Given the description of an element on the screen output the (x, y) to click on. 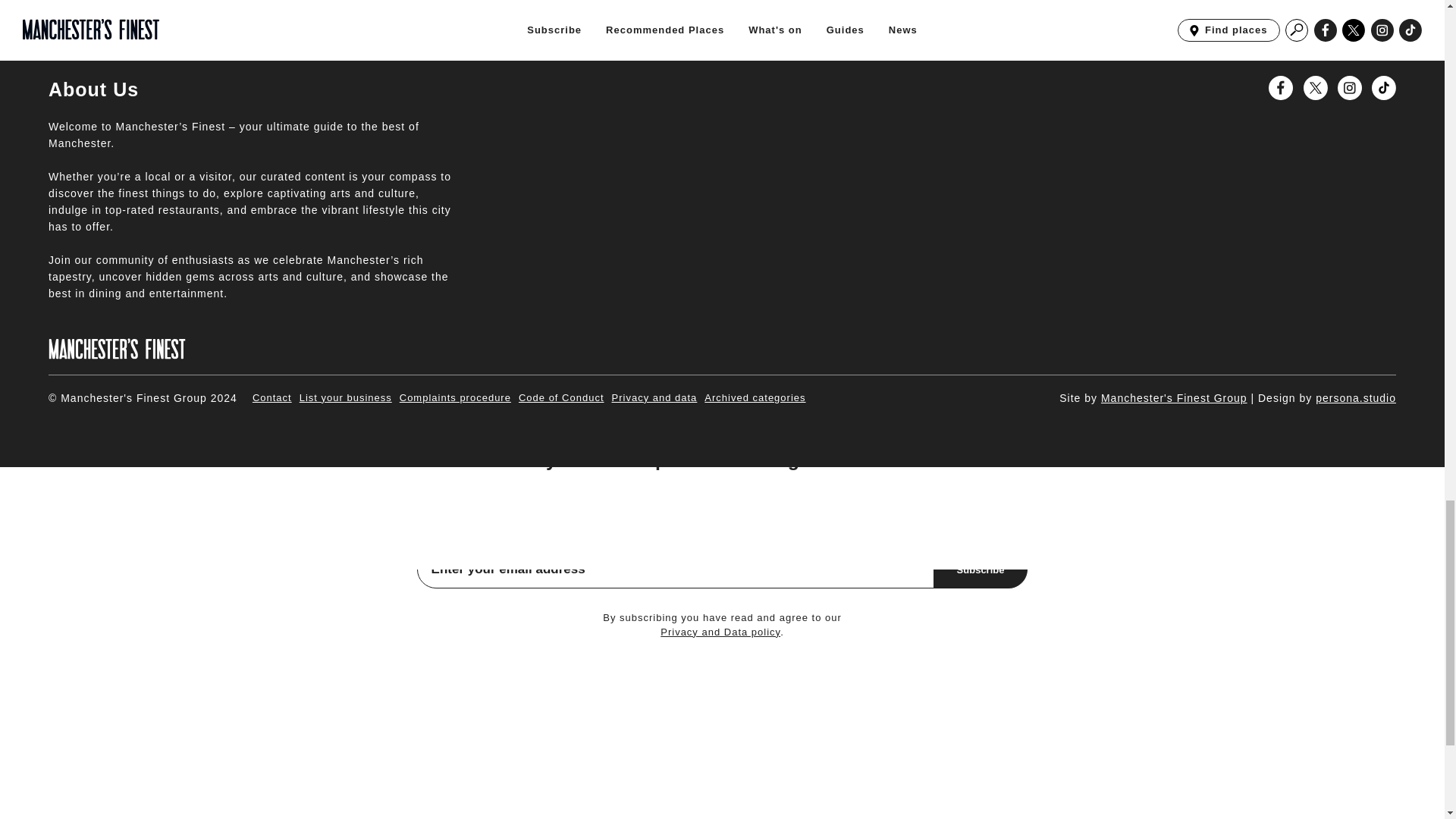
Go to Manchester's Finest TikTok profile (1383, 87)
Go to Manchester's Finest X profile (1315, 87)
Go to Manchester's Finest Facebook page (1280, 87)
Go to Manchester's Finest Instagram profile (1349, 87)
